Given the description of an element on the screen output the (x, y) to click on. 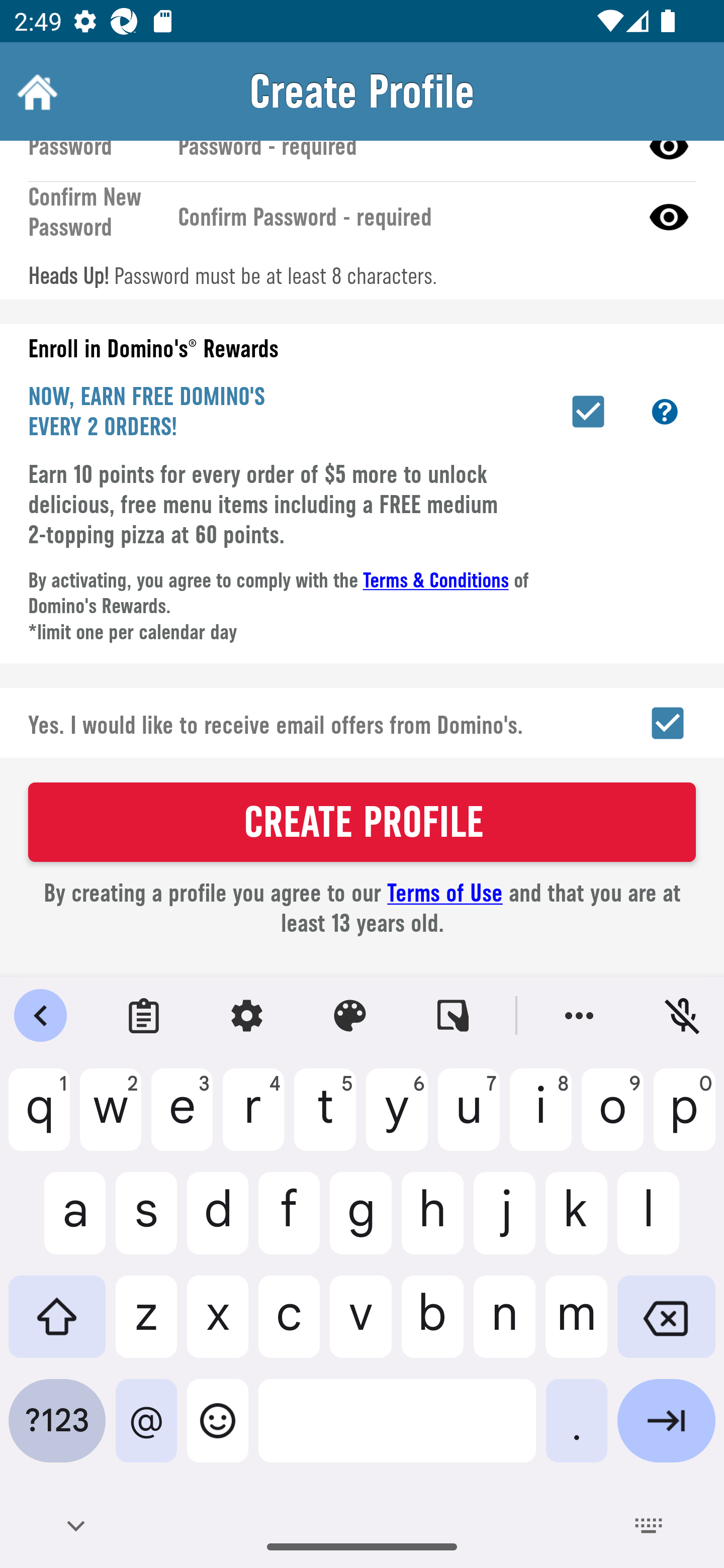
Home (35, 91)
Confirm Password - required (401, 216)
Show Password (668, 217)
Enroll in Piece of the Pie Rewards (588, 411)
CREATE PROFILE (361, 822)
